Given the description of an element on the screen output the (x, y) to click on. 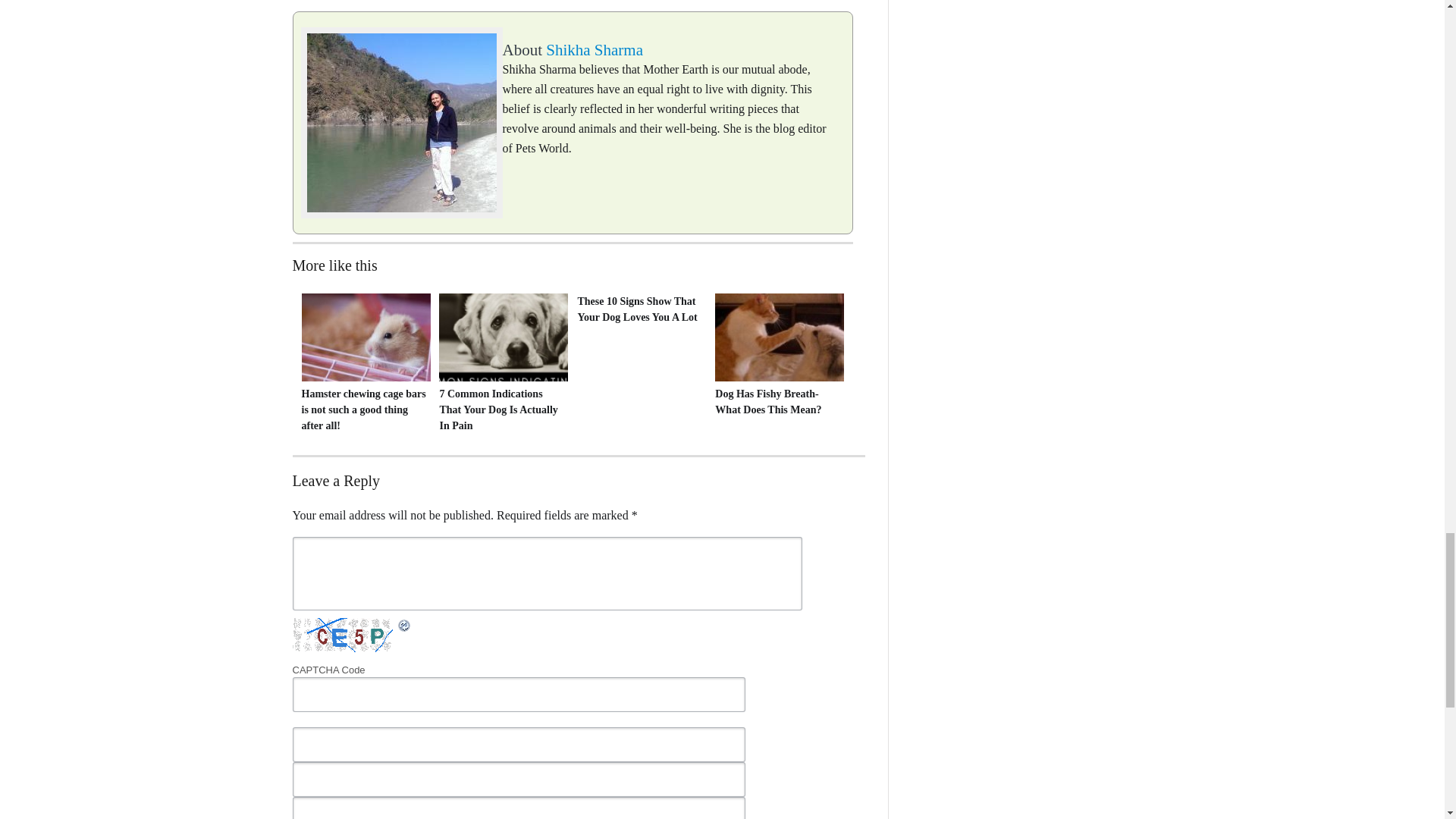
Refresh Image (404, 625)
Posts by Shikha Sharma (594, 49)
7 Common Indications That Your Dog Is Actually In Pain (502, 409)
CAPTCHA Image (344, 634)
Shikha Sharma (594, 49)
